Given the description of an element on the screen output the (x, y) to click on. 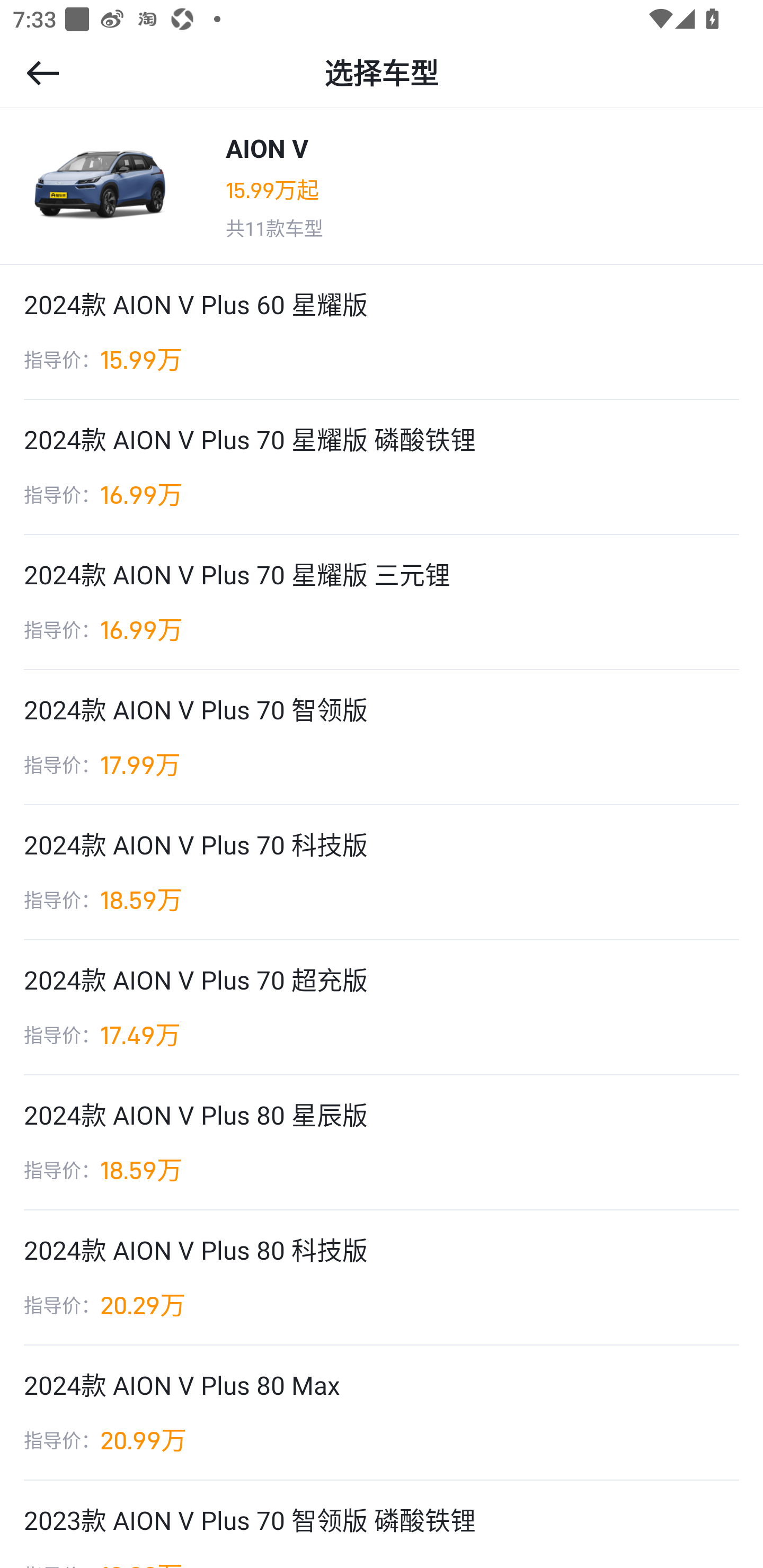
2024款 AION V Plus 60 星耀版 指导价： 15.99万 (381, 331)
2024款 AION V Plus 70 星耀版 磷酸铁锂 指导价： 16.99万 (381, 466)
2024款 AION V Plus 70 星耀版 三元锂 指导价： 16.99万 (381, 601)
2024款 AION V Plus 70 智领版 指导价： 17.99万 (381, 737)
2024款 AION V Plus 70 科技版 指导价： 18.59万 (381, 872)
2024款 AION V Plus 70 超充版 指导价： 17.49万 (381, 1007)
2024款 AION V Plus 80 星辰版 指导价： 18.59万 (381, 1142)
2024款 AION V Plus 80 科技版 指导价： 20.29万 (381, 1277)
2024款 AION V Plus 80 Max 指导价： 20.99万 (381, 1412)
2023款 AION V Plus 70 智领版 磷酸铁锂 指导价： 18.98万 (381, 1524)
